Given the description of an element on the screen output the (x, y) to click on. 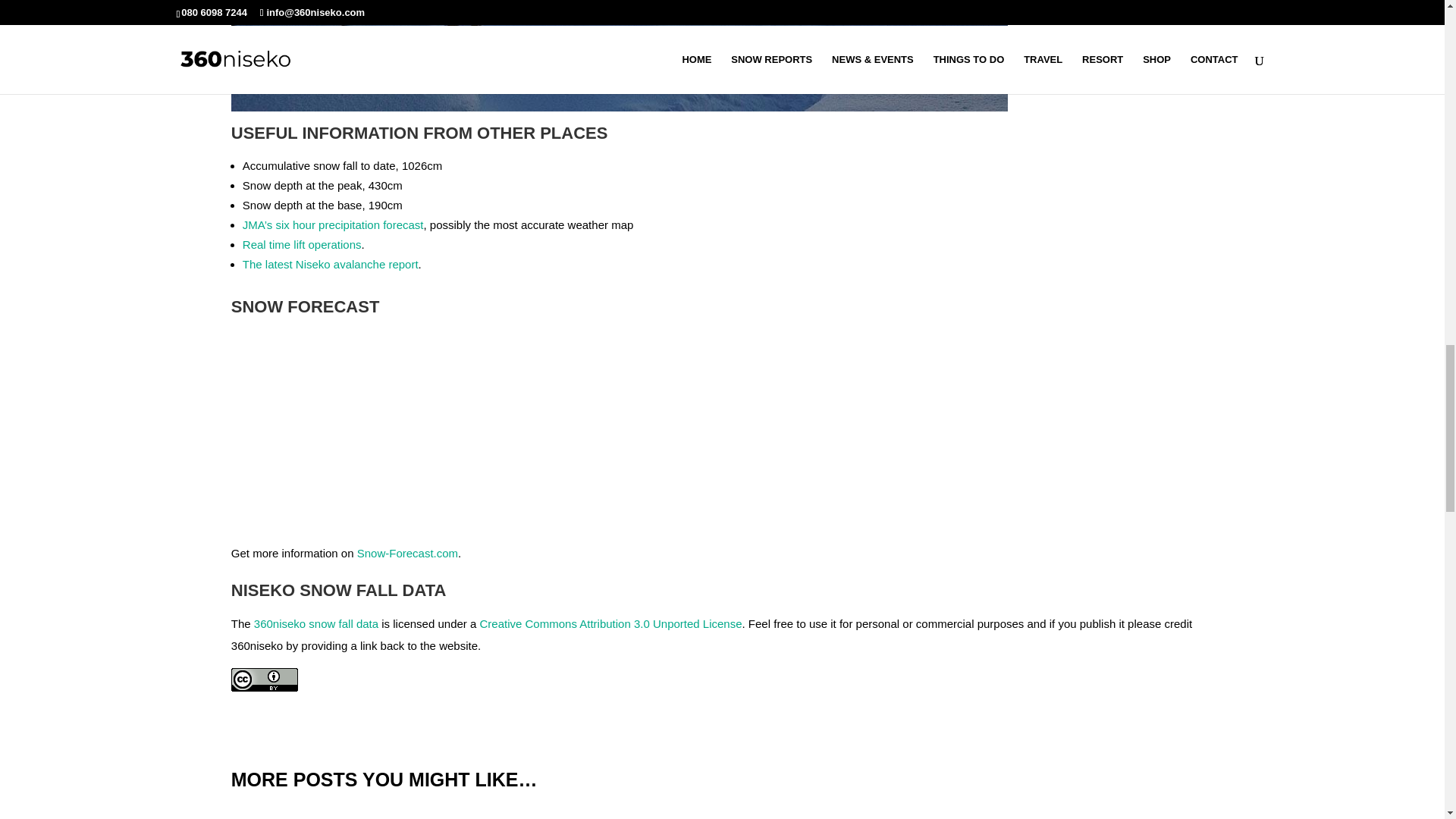
Real time lift operations (302, 244)
Open's in a new window (407, 553)
360niseko snow fall data (315, 623)
The latest Niseko avalanche report (331, 264)
Opens a Google Spread Sheet in a new window. (315, 623)
Niseko Avalanche Information, opens in a new window (331, 264)
Niseko United website, opens in a new window (302, 244)
Creative Commons Attribution 3.0 Unported License (611, 623)
Snow-Forecast.com (407, 553)
